Given the description of an element on the screen output the (x, y) to click on. 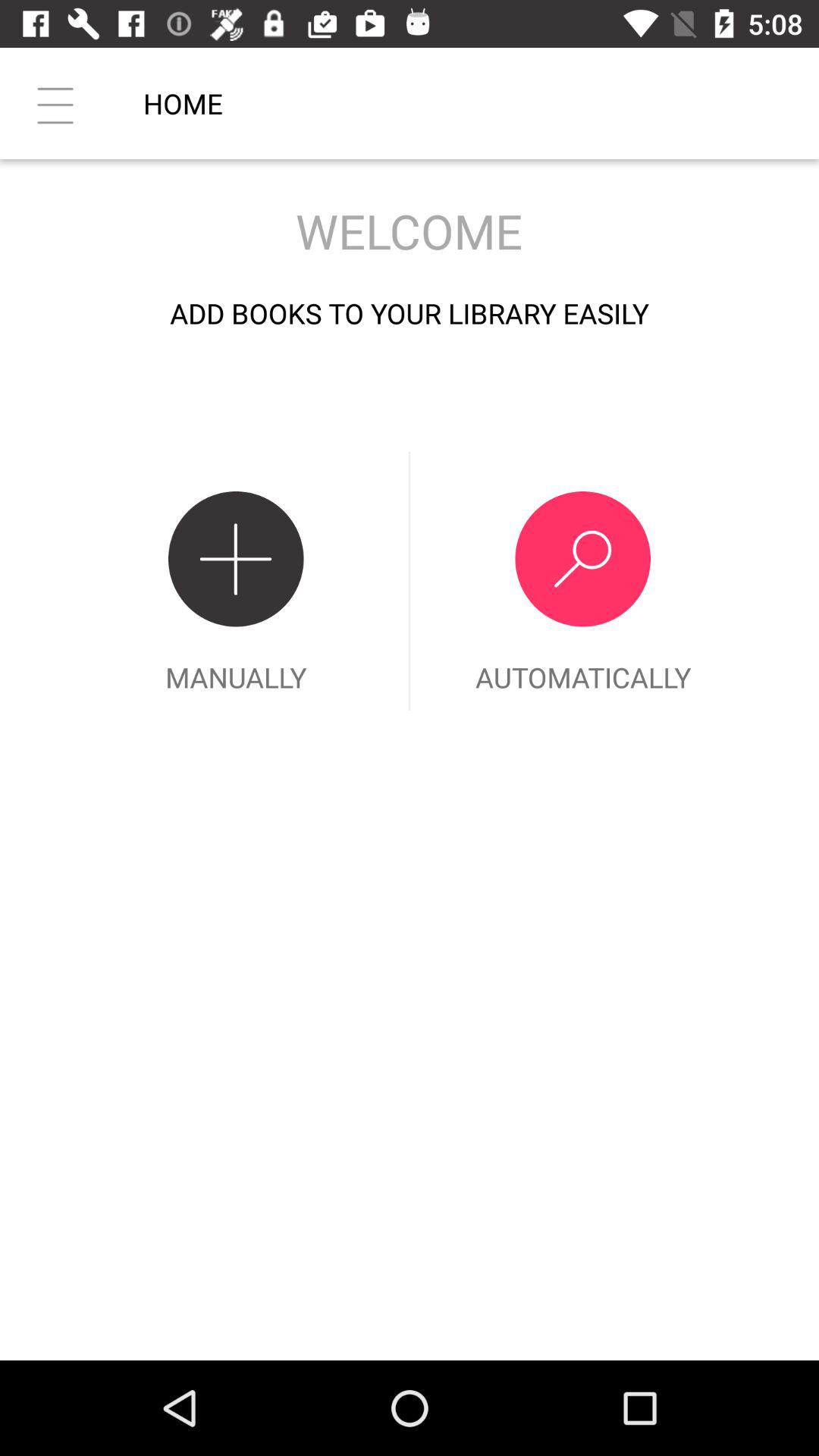
open manually icon (235, 580)
